Given the description of an element on the screen output the (x, y) to click on. 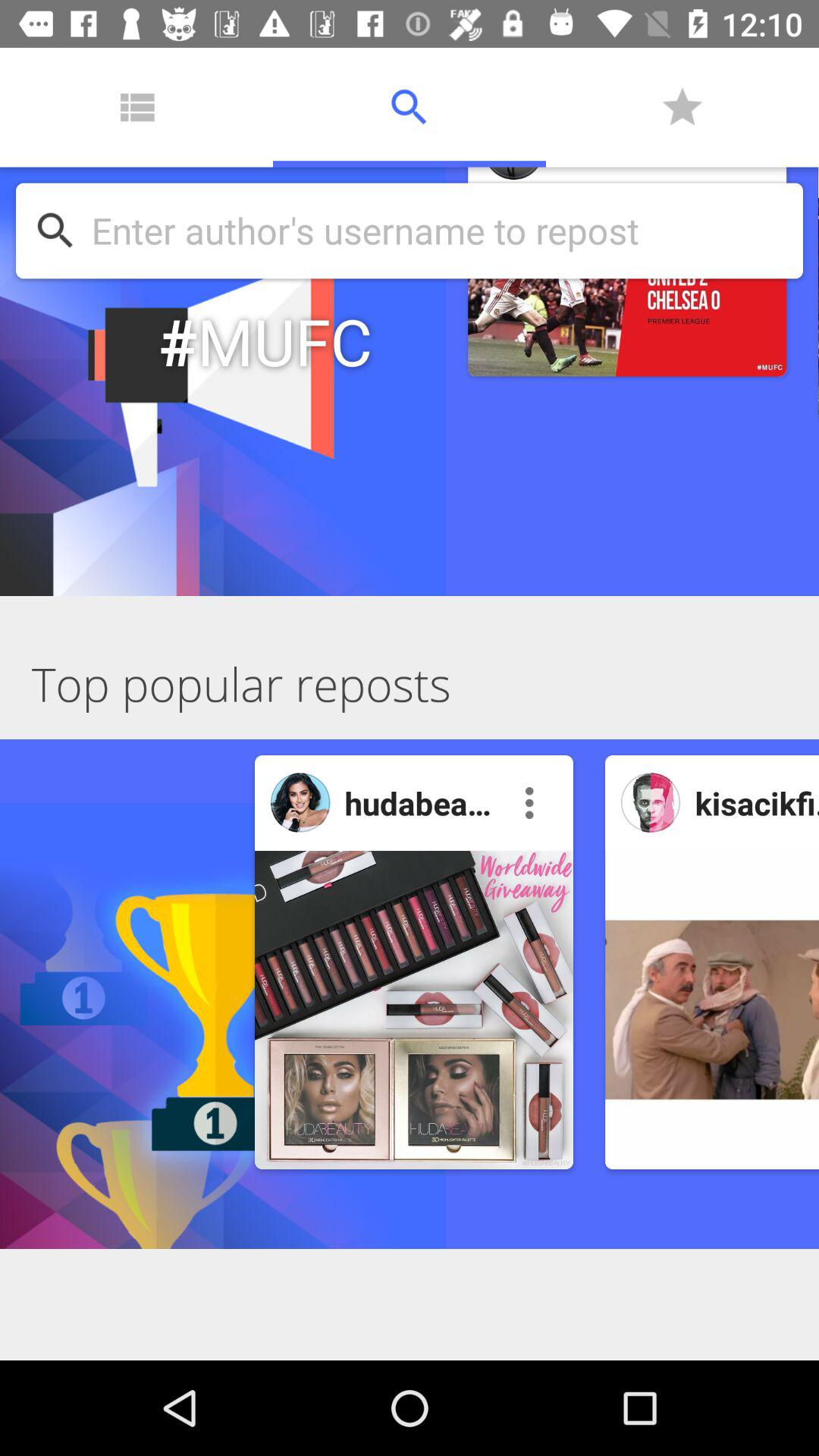
go to profile (650, 802)
